Given the description of an element on the screen output the (x, y) to click on. 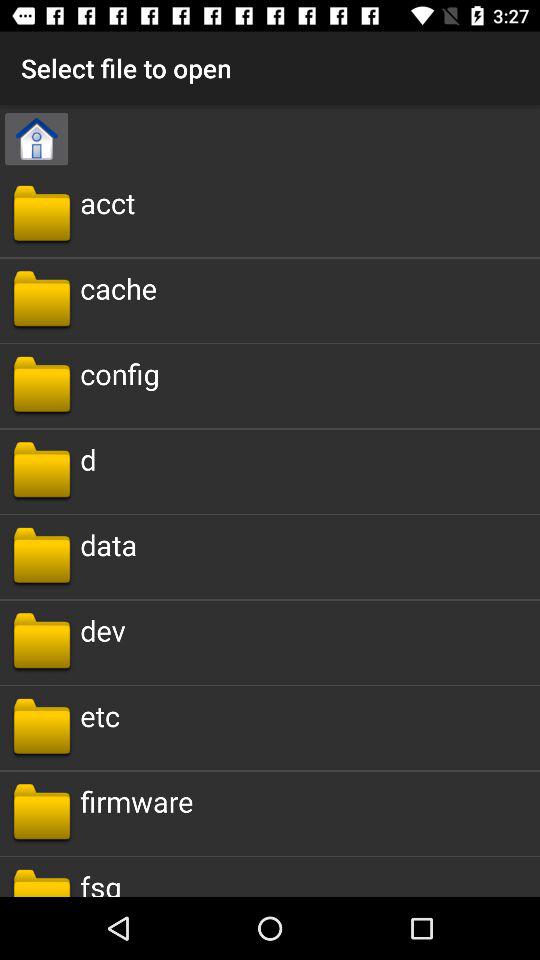
scroll until the etc icon (100, 715)
